Given the description of an element on the screen output the (x, y) to click on. 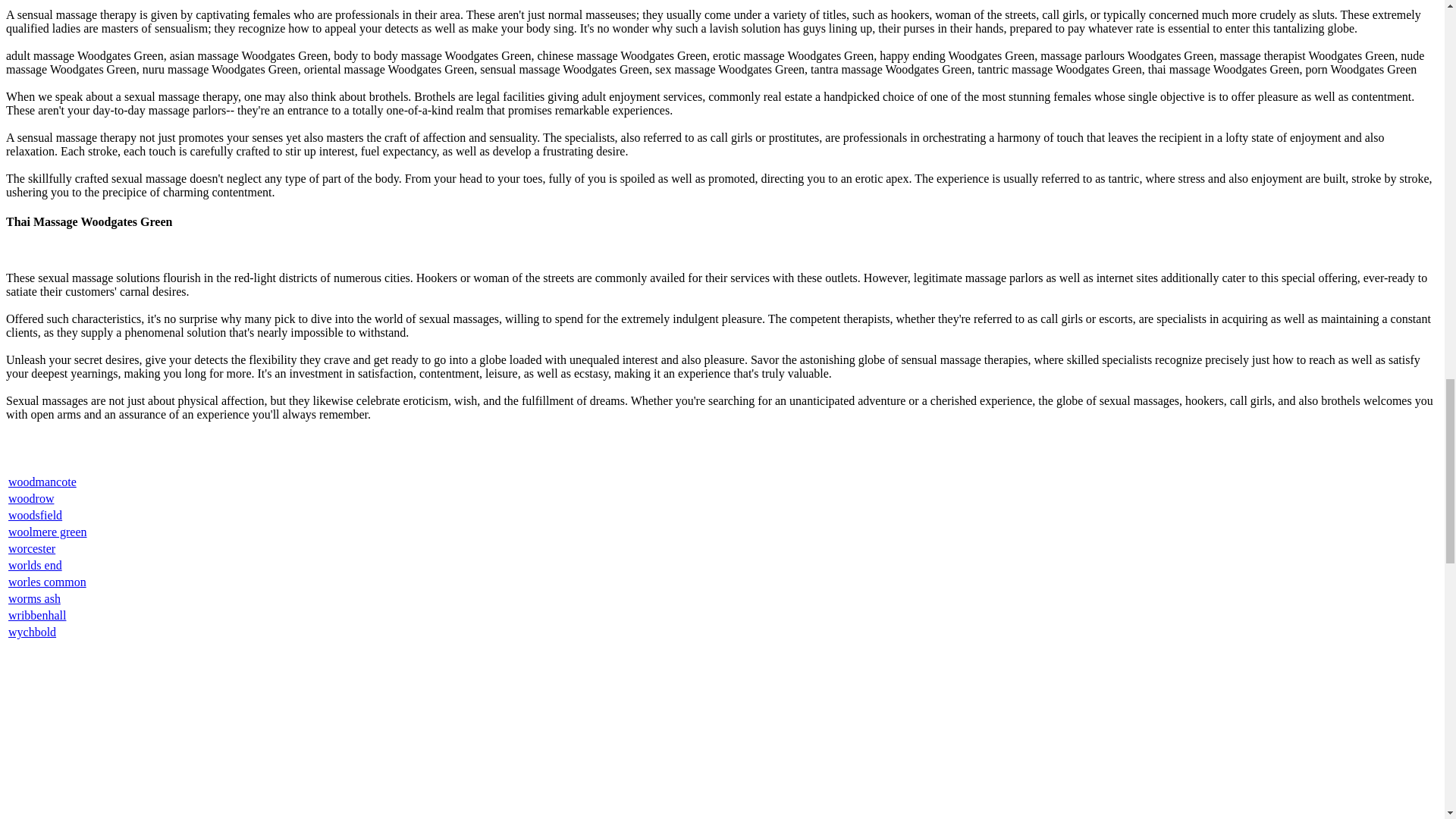
worles common (46, 581)
woodsfield (35, 514)
wribbenhall (36, 615)
woodrow (30, 498)
worlds end (35, 564)
worcester (31, 548)
wychbold (32, 631)
woolmere green (47, 531)
woodmancote (42, 481)
worms ash (34, 598)
